Given the description of an element on the screen output the (x, y) to click on. 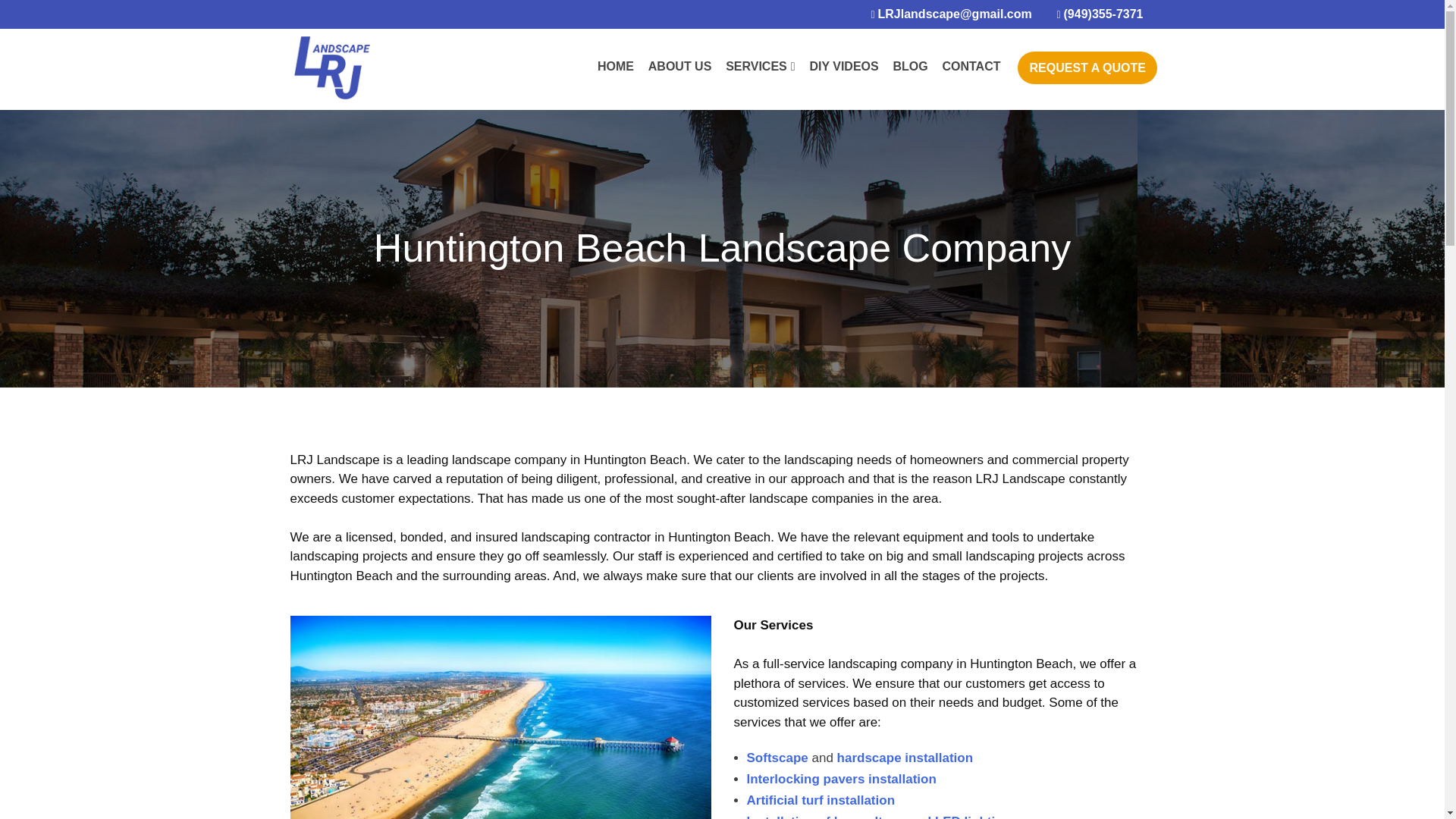
Interlocking pavers installation (840, 779)
hardscape installation (905, 757)
CONTACT (971, 65)
HOME (615, 65)
Softscape (776, 757)
BLOG (909, 65)
Installation of low-voltage and LED lighting (877, 816)
DIY VIDEOS (843, 65)
REQUEST A QUOTE (1087, 67)
SERVICES (759, 65)
